Given the description of an element on the screen output the (x, y) to click on. 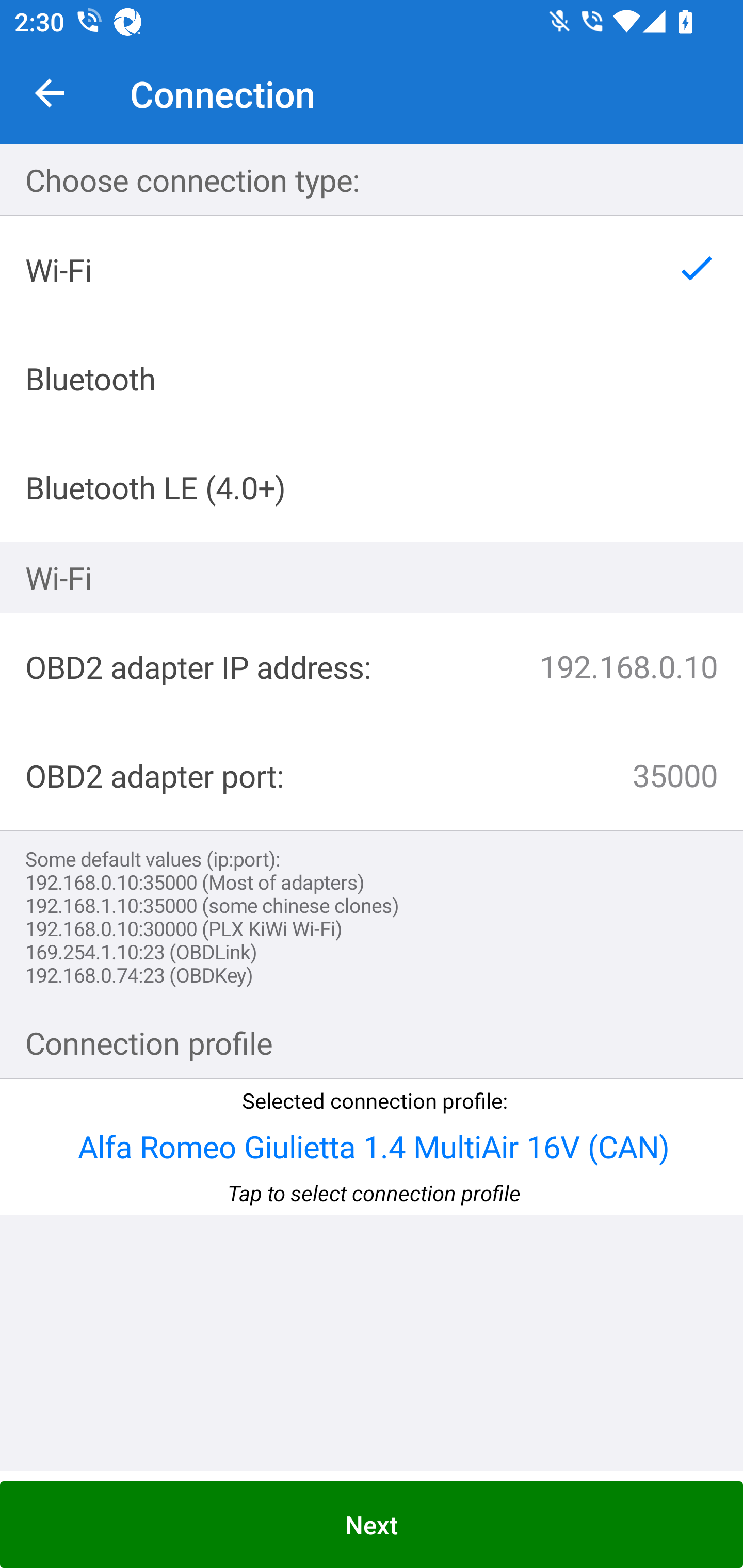
Wi-Fi (371, 270)
Bluetooth (371, 378)
Bluetooth LE (4.0+) (371, 486)
OBD2 adapter IP address: 192.168.0.10 (371, 667)
192.168.0.10 (553, 667)
OBD2 adapter port: 35000 (371, 776)
35000 (509, 775)
Next (371, 1524)
